Given the description of an element on the screen output the (x, y) to click on. 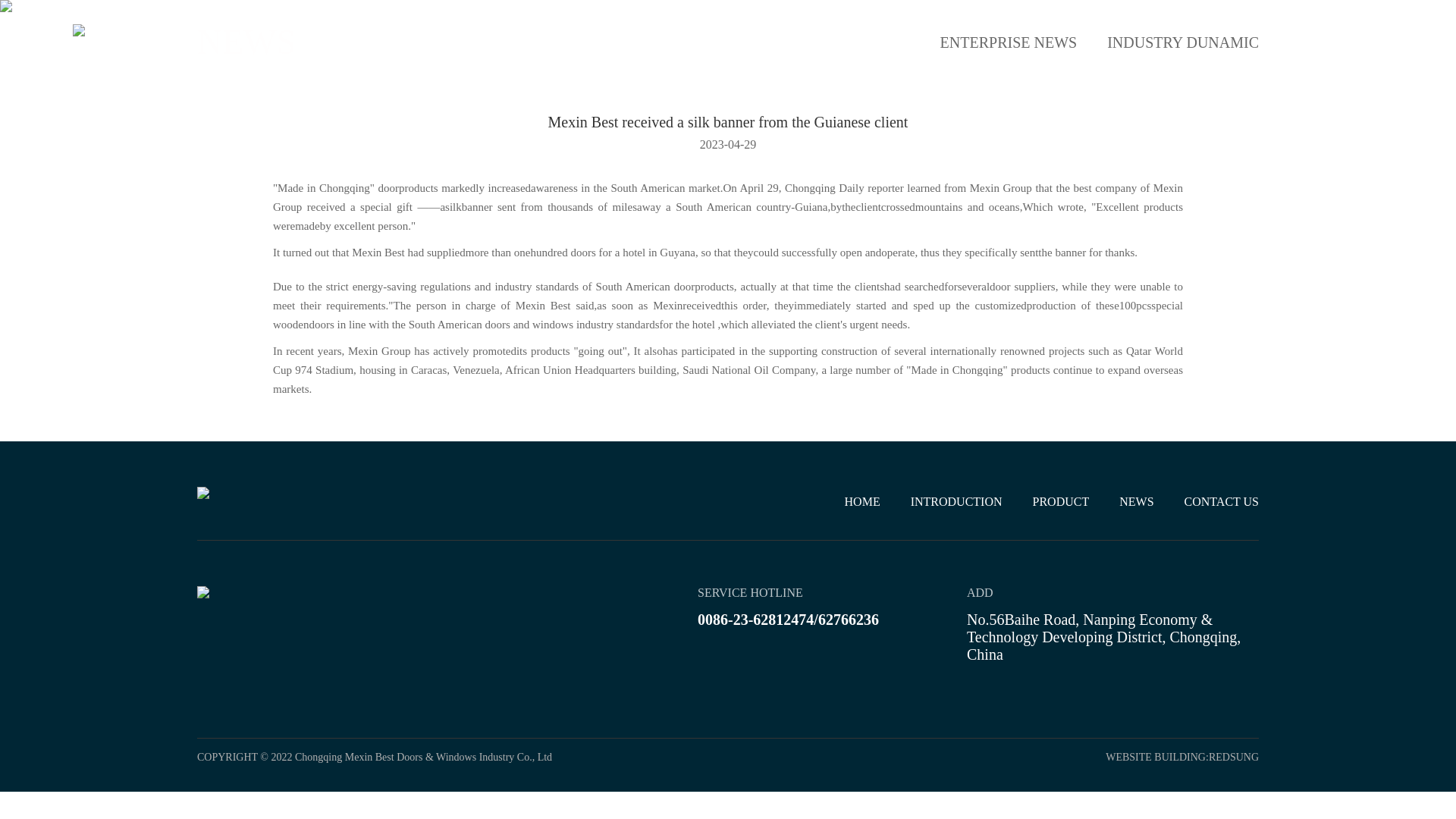
PRODUCT (1010, 30)
CONTACT US (1222, 501)
PRODUCT (1060, 501)
INTRODUCTION (879, 30)
HOME (761, 30)
HOME (862, 501)
NEWS (1136, 501)
ENTERPRISE NEWS (1008, 42)
INTRODUCTION (957, 501)
INDUSTRY DUNAMIC (1182, 42)
